Given the description of an element on the screen output the (x, y) to click on. 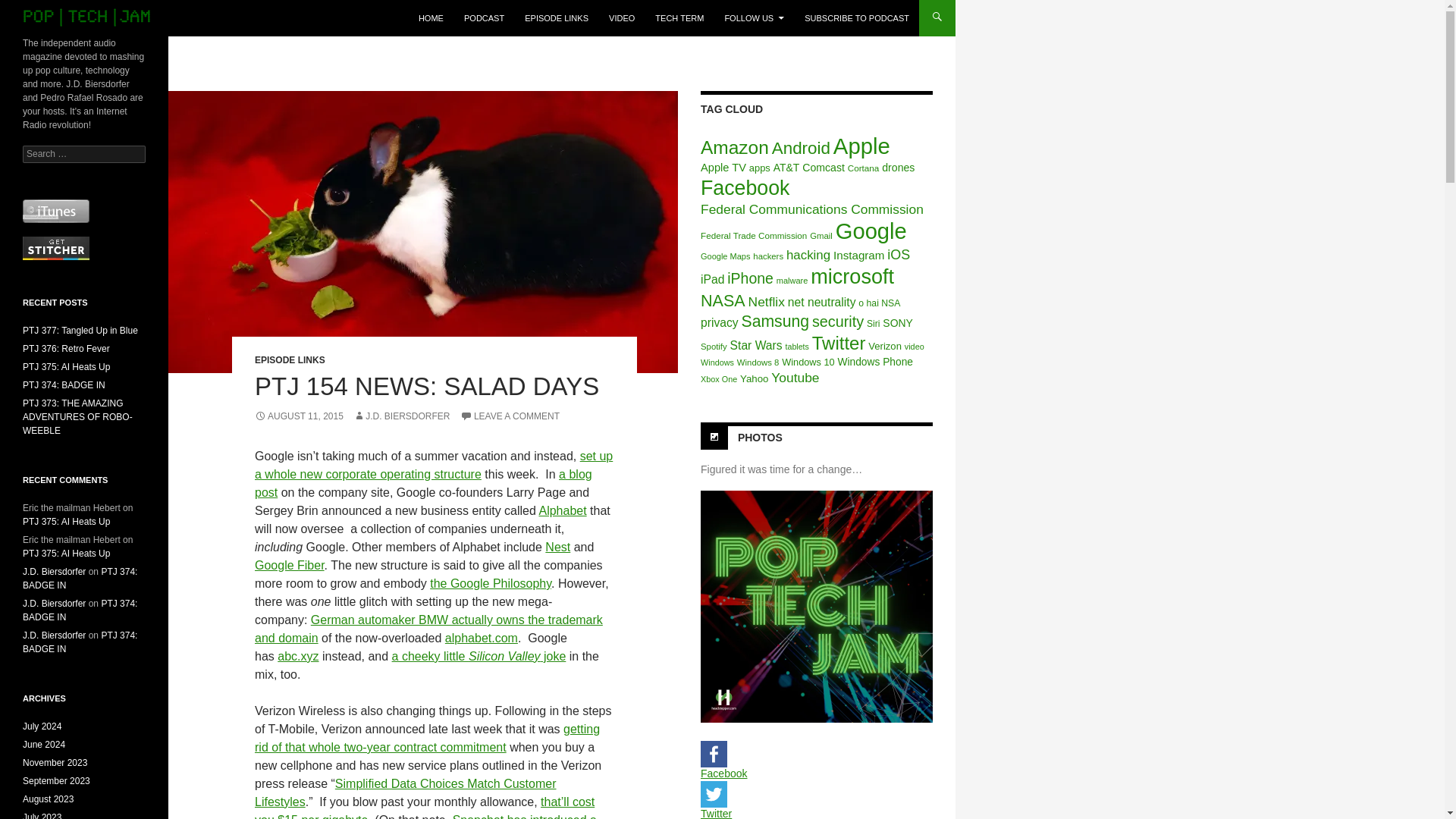
AUGUST 11, 2015 (298, 416)
a blog post (423, 482)
alphabet.com (481, 637)
a cheeky little Silicon Valley joke (478, 656)
, Snapchat has introduced a new Travel Mode (425, 816)
FOLLOW US (753, 18)
J.D. BIERSDORFER (401, 416)
TECH TERM (679, 18)
Alphabet (562, 510)
EPISODE LINKS (289, 359)
HOME (430, 18)
German automaker BMW actually owns the trademark and domain (428, 628)
VIDEO (621, 18)
Nest (557, 546)
Google Fiber (289, 564)
